Given the description of an element on the screen output the (x, y) to click on. 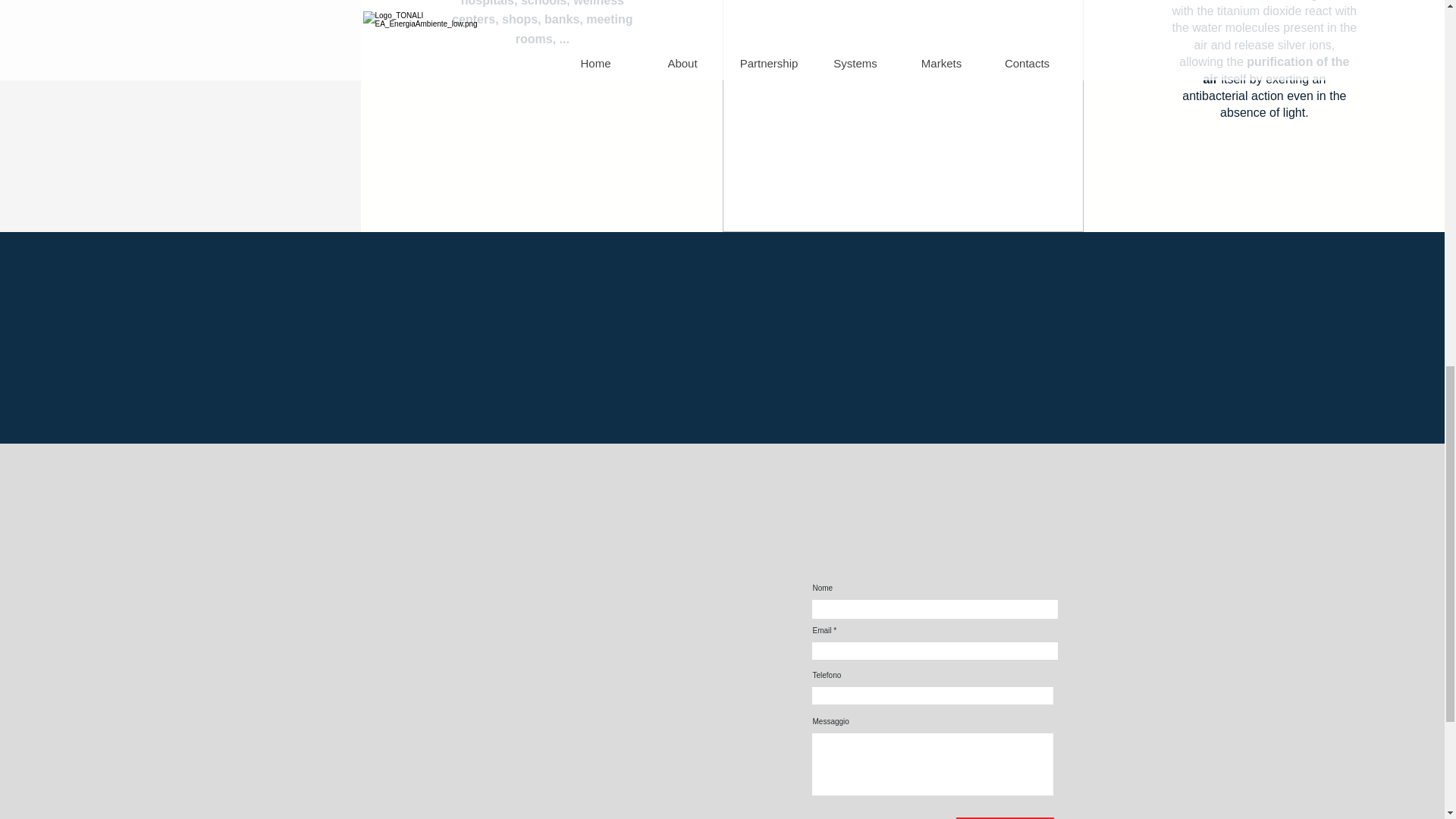
Invia (1003, 818)
